Given the description of an element on the screen output the (x, y) to click on. 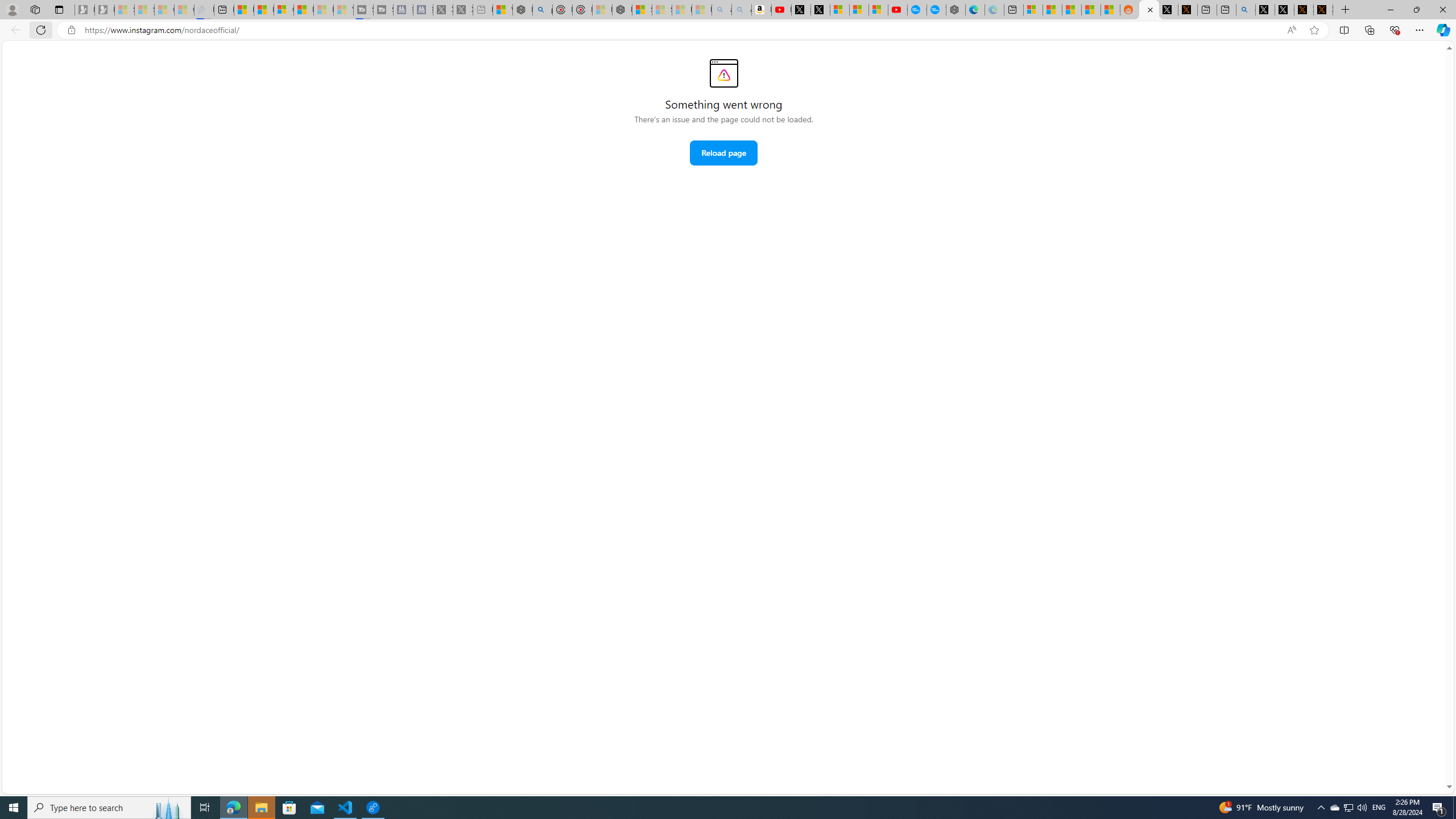
help.x.com | 524: A timeout occurred (1187, 9)
Shanghai, China weather forecast | Microsoft Weather (1052, 9)
Nordace - Nordace has arrived Hong Kong (954, 9)
Microsoft Start - Sleeping (322, 9)
github - Search (1245, 9)
